Given the description of an element on the screen output the (x, y) to click on. 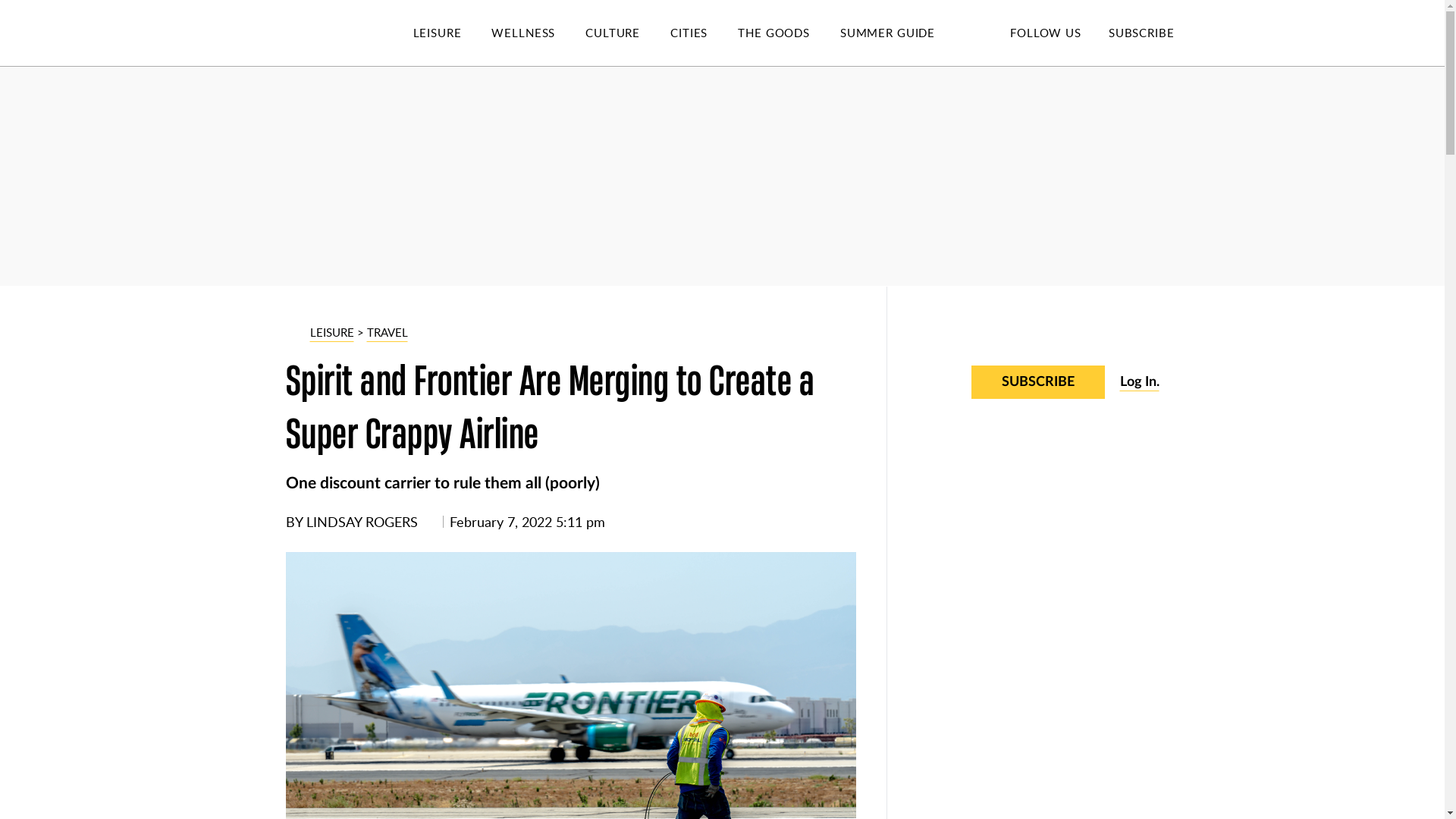
CULTURE (627, 32)
CITIES (703, 32)
SUBSCRIBE (1141, 31)
SUMMER GUIDE (902, 32)
FOLLOW US (1045, 32)
WELLNESS (538, 32)
LEISURE (452, 32)
THE GOODS (789, 32)
